Given the description of an element on the screen output the (x, y) to click on. 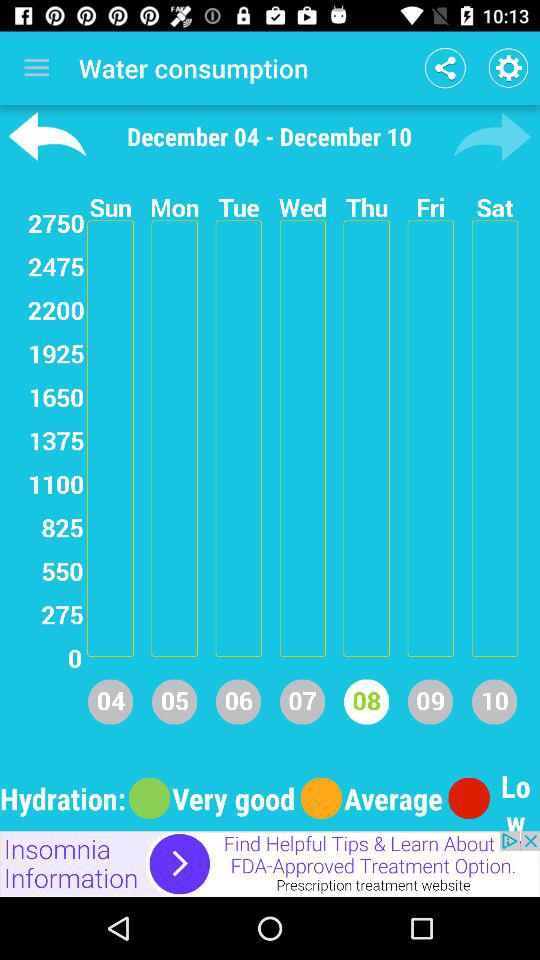
go back (47, 136)
